Given the description of an element on the screen output the (x, y) to click on. 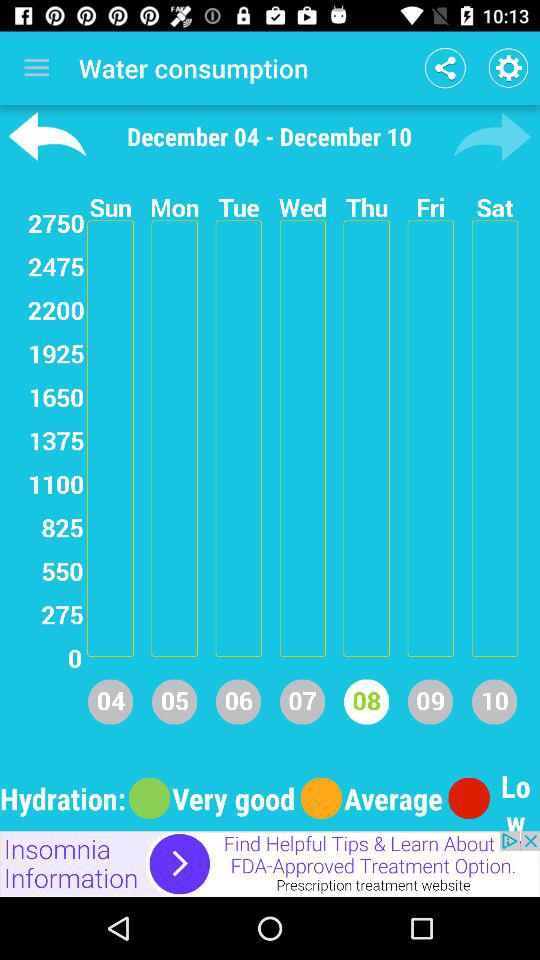
go back (47, 136)
